Given the description of an element on the screen output the (x, y) to click on. 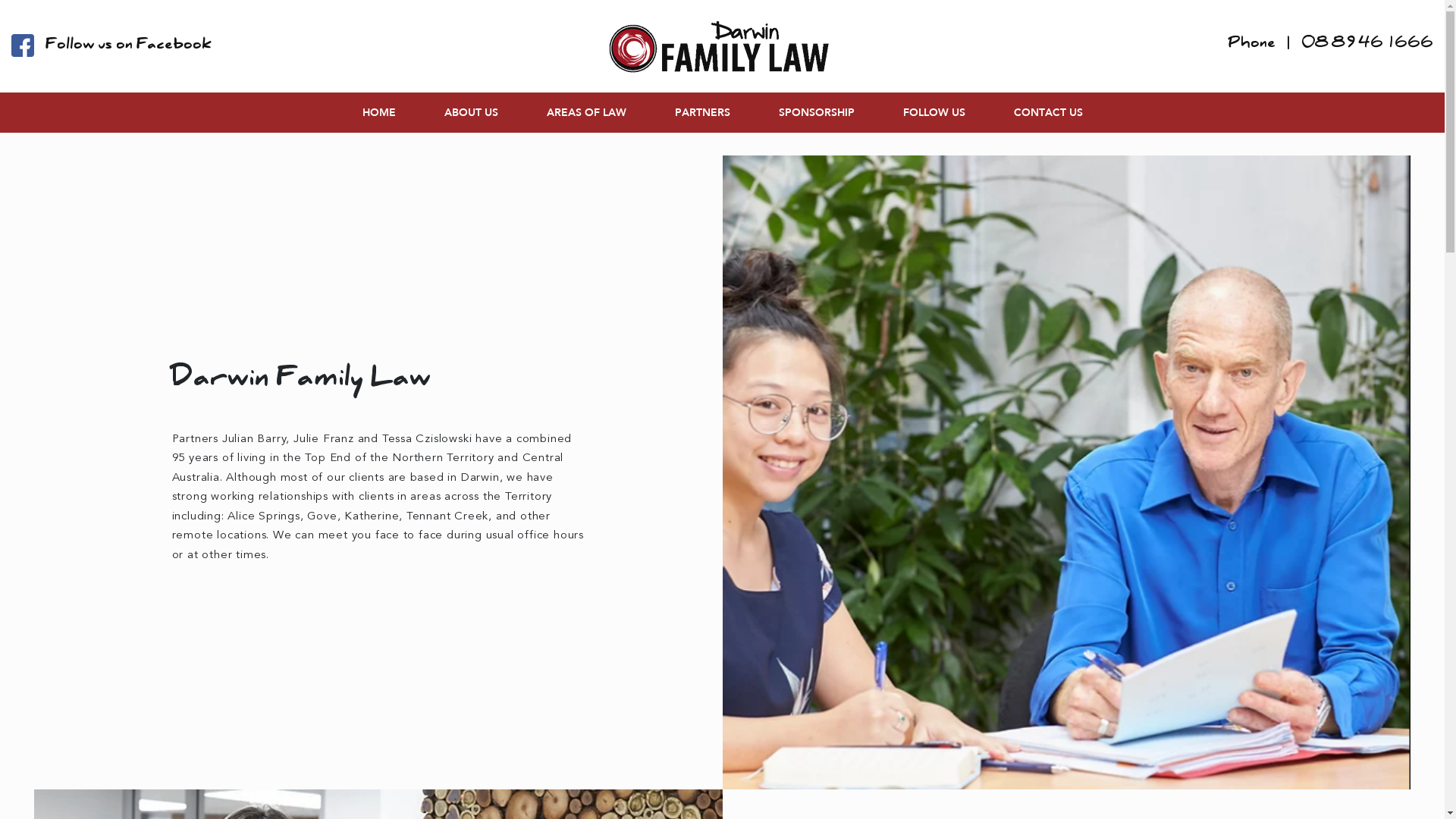
HOME Element type: text (379, 112)
Phone   |   08 8946 1666 Element type: text (1330, 45)
SPONSORSHIP Element type: text (815, 112)
CONTACT US Element type: text (1047, 112)
FOLLOW US Element type: text (933, 112)
Follow us on Facebook Element type: text (110, 46)
AREAS OF LAW Element type: text (585, 112)
ABOUT US Element type: text (471, 112)
PARTNERS Element type: text (702, 112)
